Given the description of an element on the screen output the (x, y) to click on. 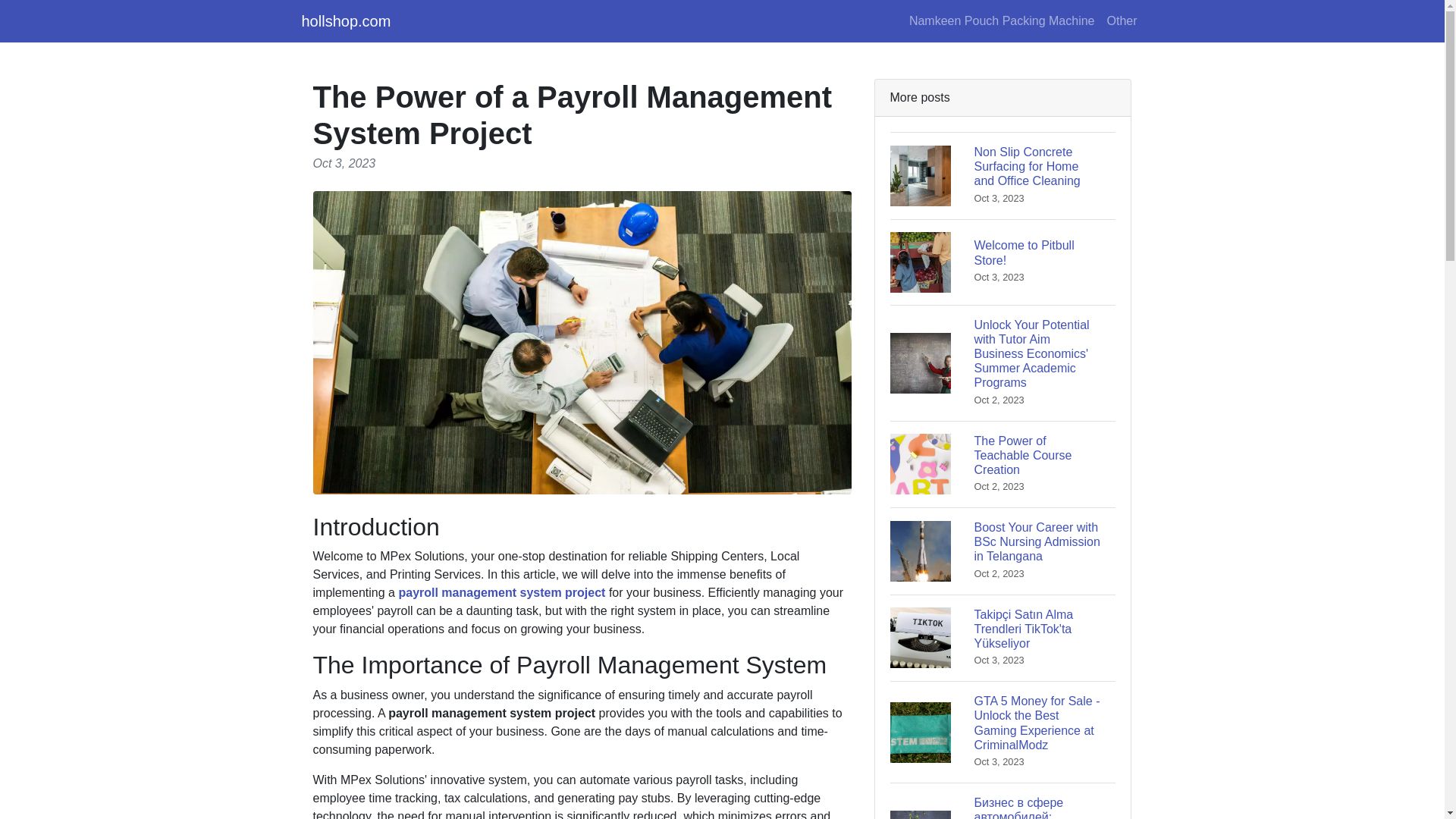
hollshop.com (346, 20)
payroll management system project (1002, 261)
Other (501, 592)
Namkeen Pouch Packing Machine (1002, 463)
